Given the description of an element on the screen output the (x, y) to click on. 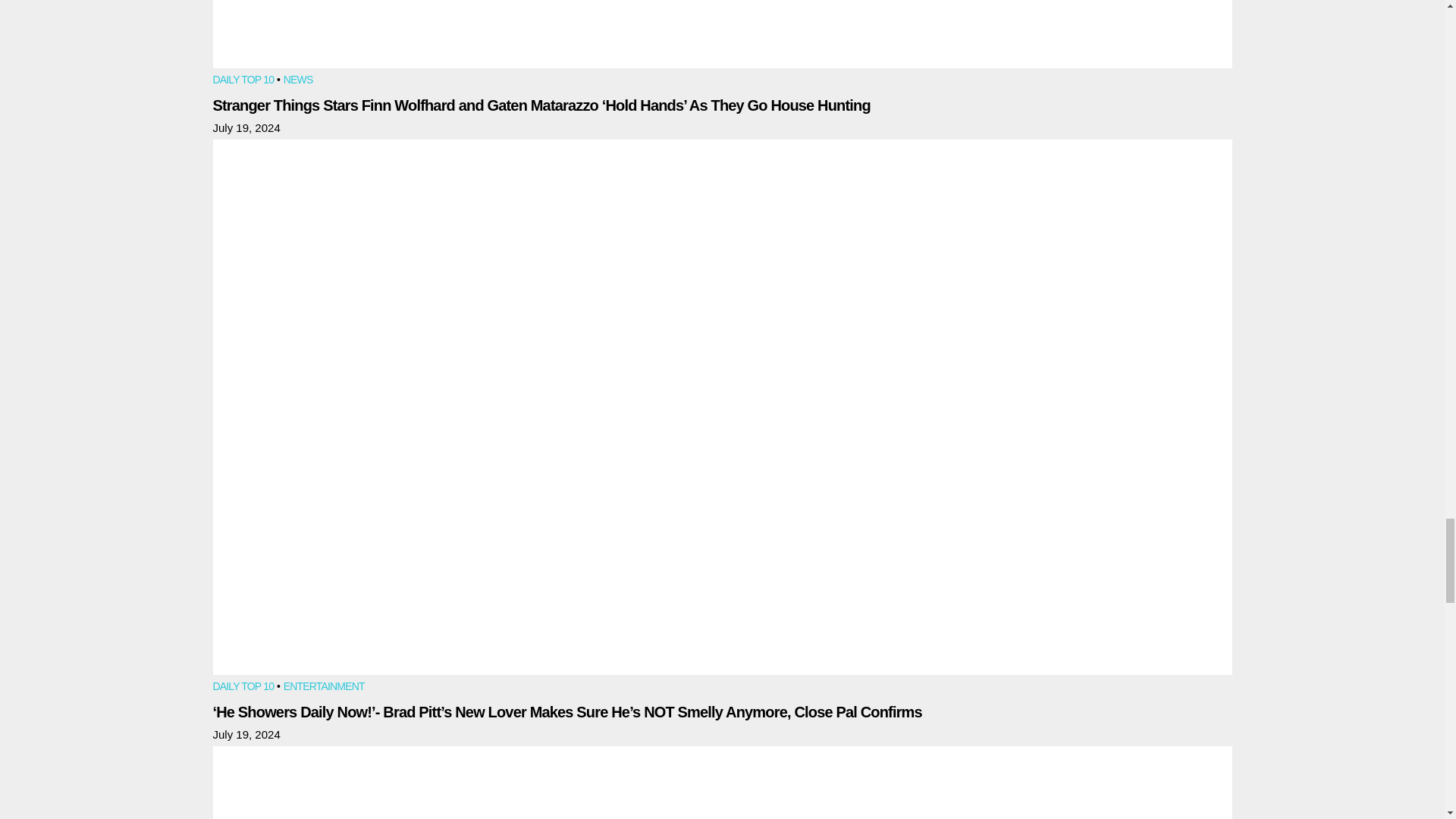
NEWS (298, 80)
DAILY TOP 10 (242, 687)
ENTERTAINMENT (324, 687)
DAILY TOP 10 (242, 80)
